Given the description of an element on the screen output the (x, y) to click on. 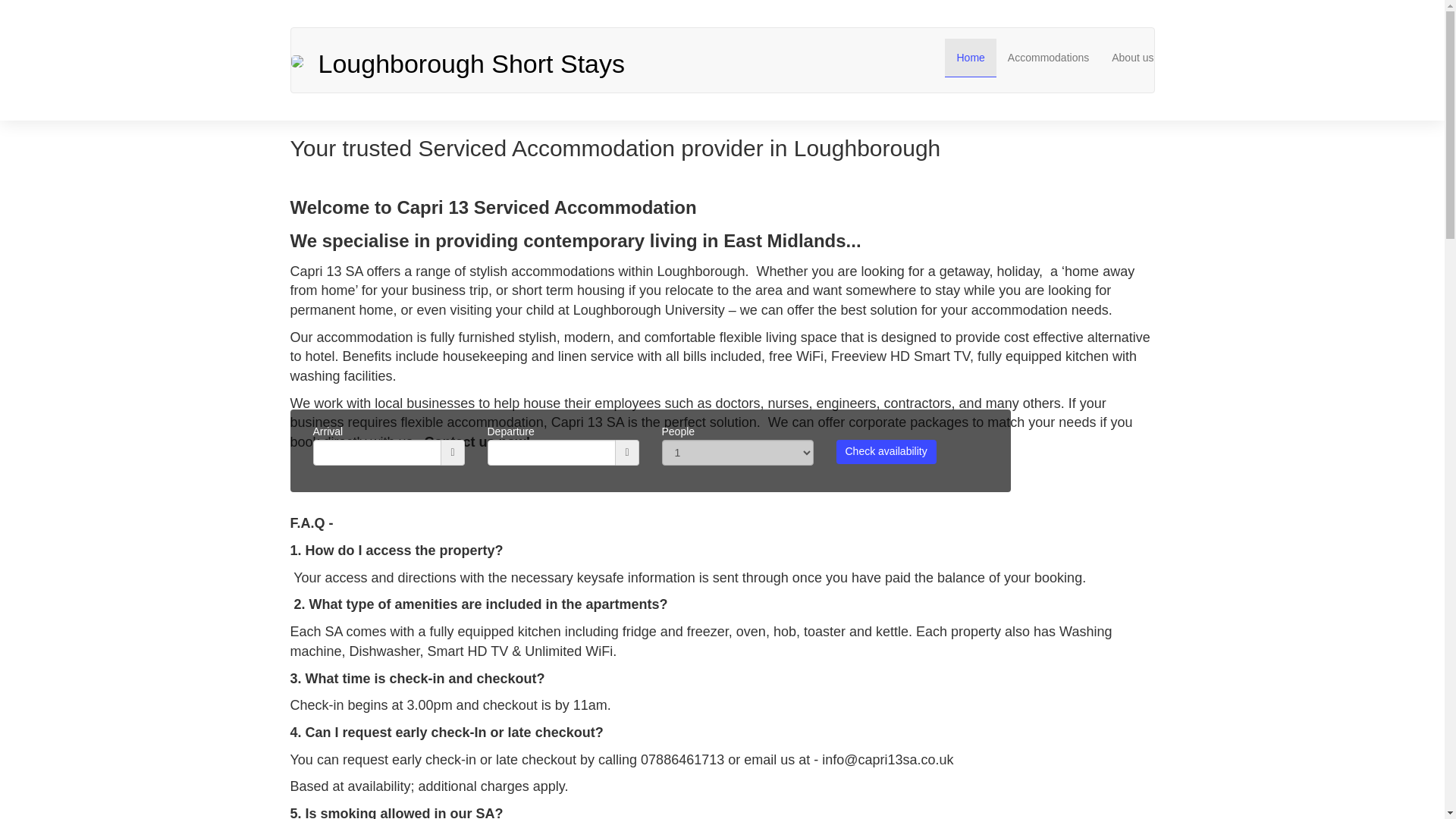
Check availability (885, 451)
About us (1132, 57)
Home (969, 57)
Accommodations (1047, 57)
Loughborough Short Stays (501, 59)
